Given the description of an element on the screen output the (x, y) to click on. 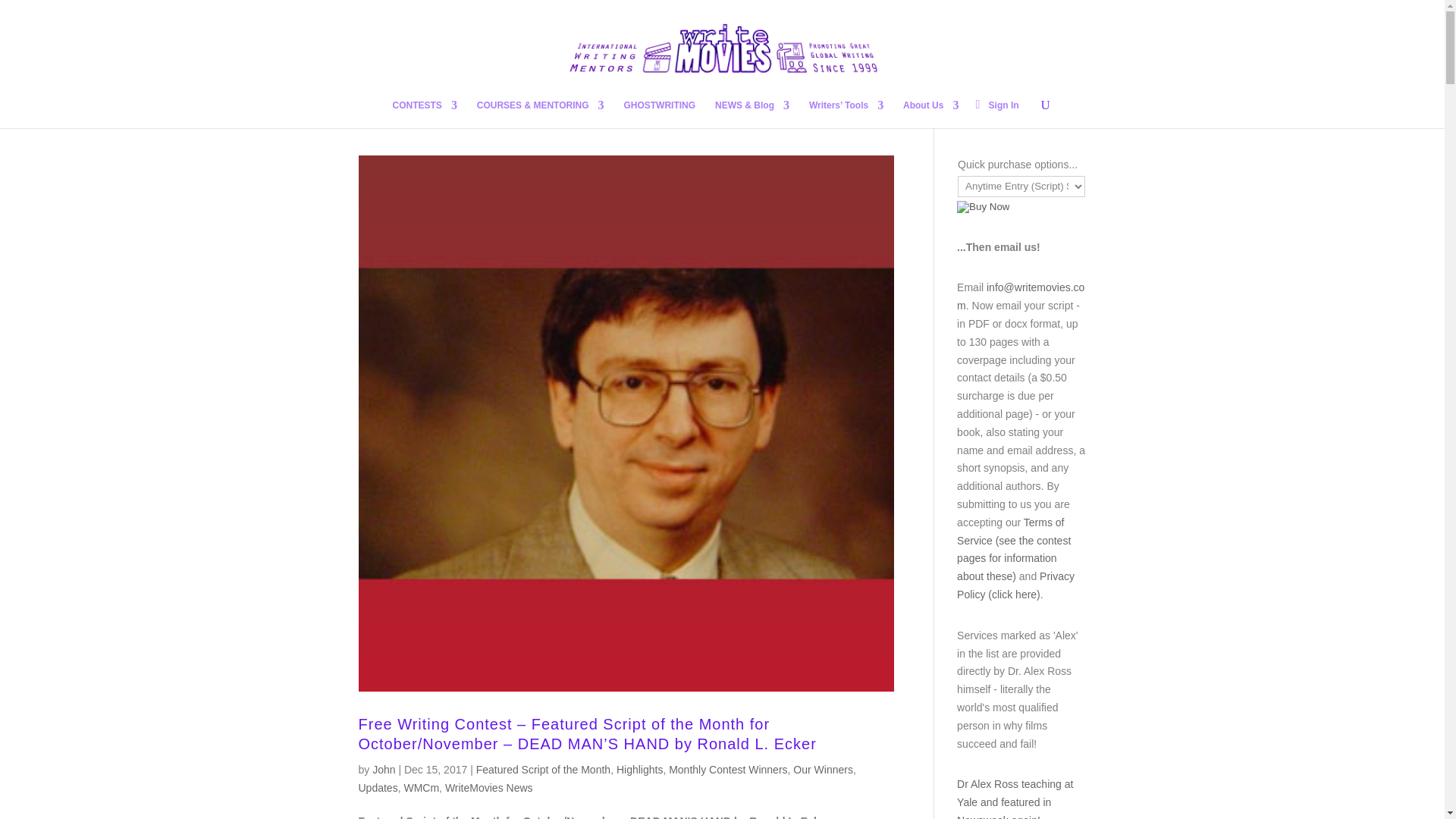
GHOSTWRITING (659, 113)
PayPal - The safer, easier way to pay online! (982, 206)
CONTESTS (425, 113)
Posts by John (383, 769)
